Given the description of an element on the screen output the (x, y) to click on. 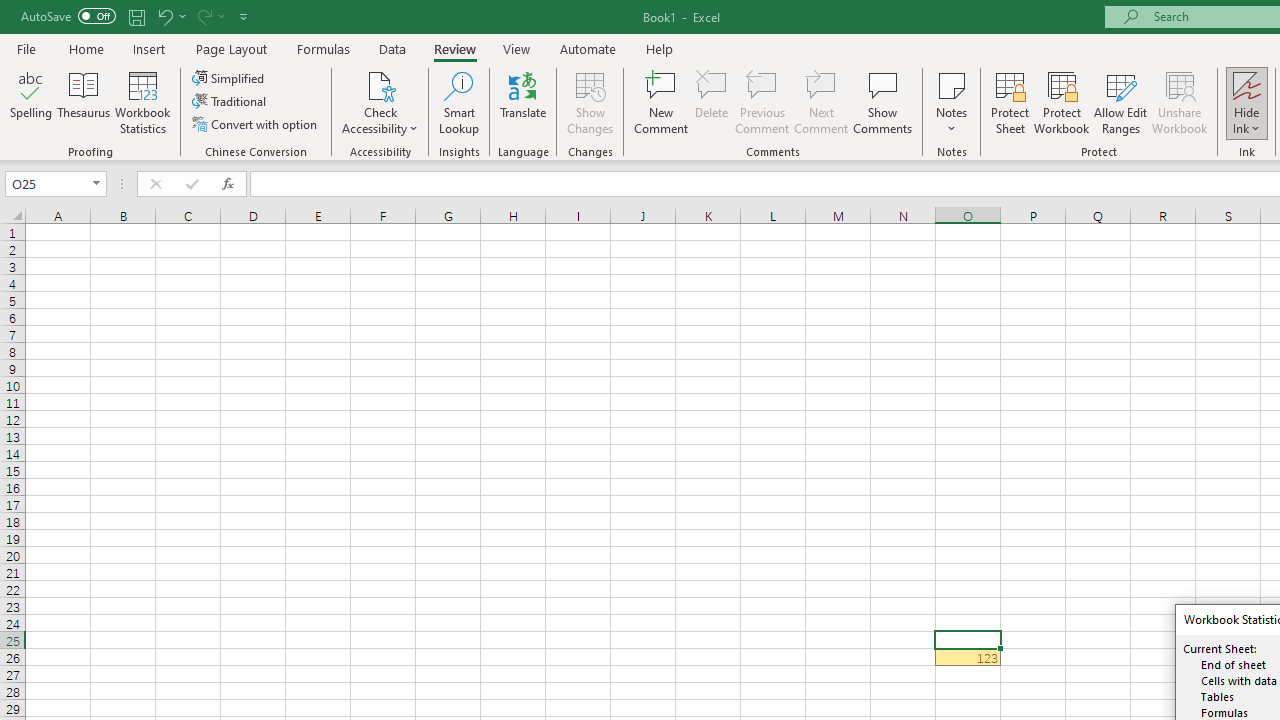
Hide Ink (1247, 102)
Hide Ink (1247, 84)
Formulas (323, 48)
Data (392, 48)
Workbook Statistics (142, 102)
Save (136, 15)
Smart Lookup (459, 102)
Undo (170, 15)
Insert (149, 48)
Check Accessibility (380, 84)
Protect Workbook... (1061, 102)
Show Changes (589, 102)
Page Layout (230, 48)
Protect Sheet... (1010, 102)
